Given the description of an element on the screen output the (x, y) to click on. 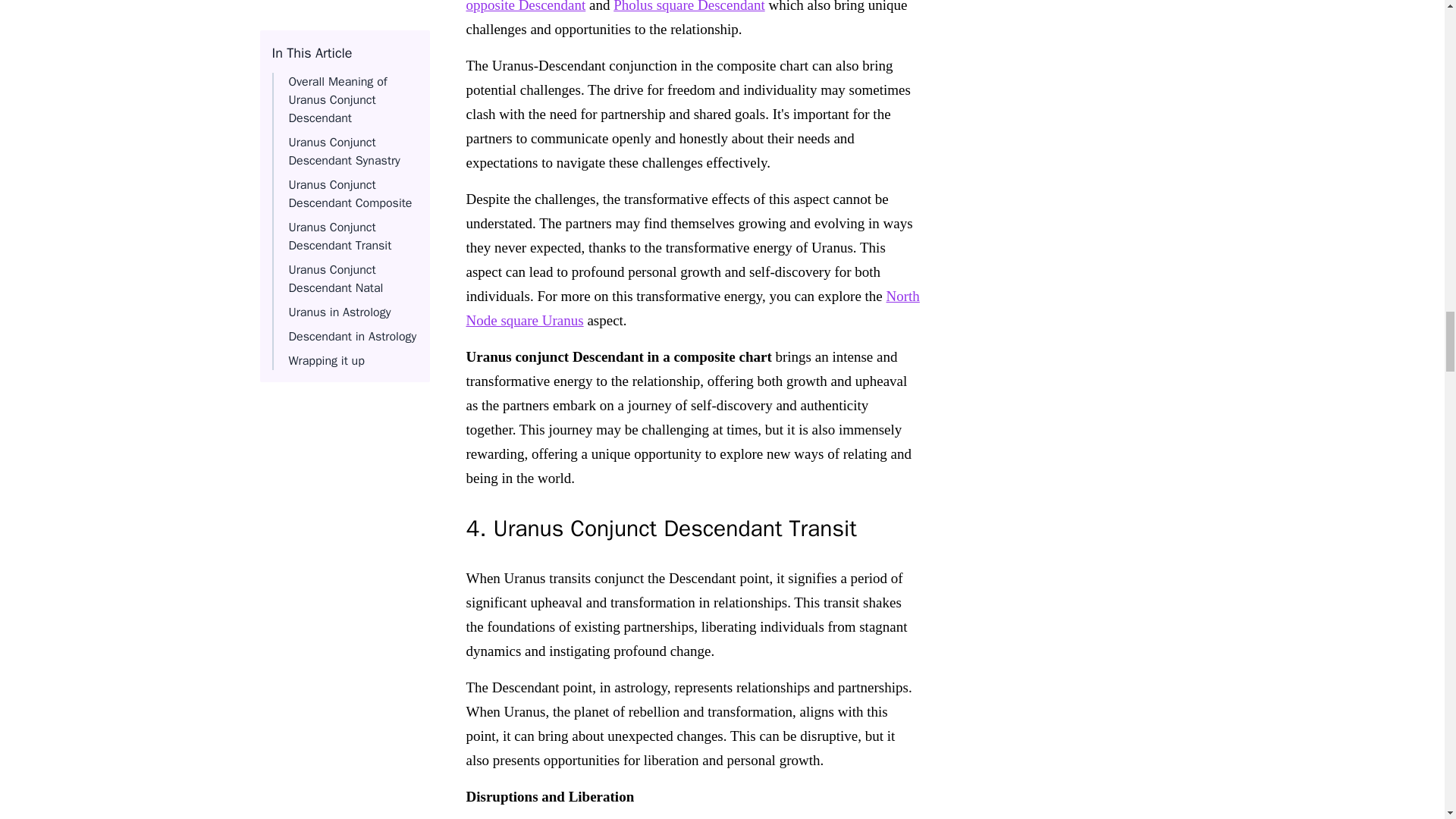
Lilith opposite Descendant (686, 6)
North Node square Uranus (691, 308)
Pholus square Descendant (688, 6)
